Given the description of an element on the screen output the (x, y) to click on. 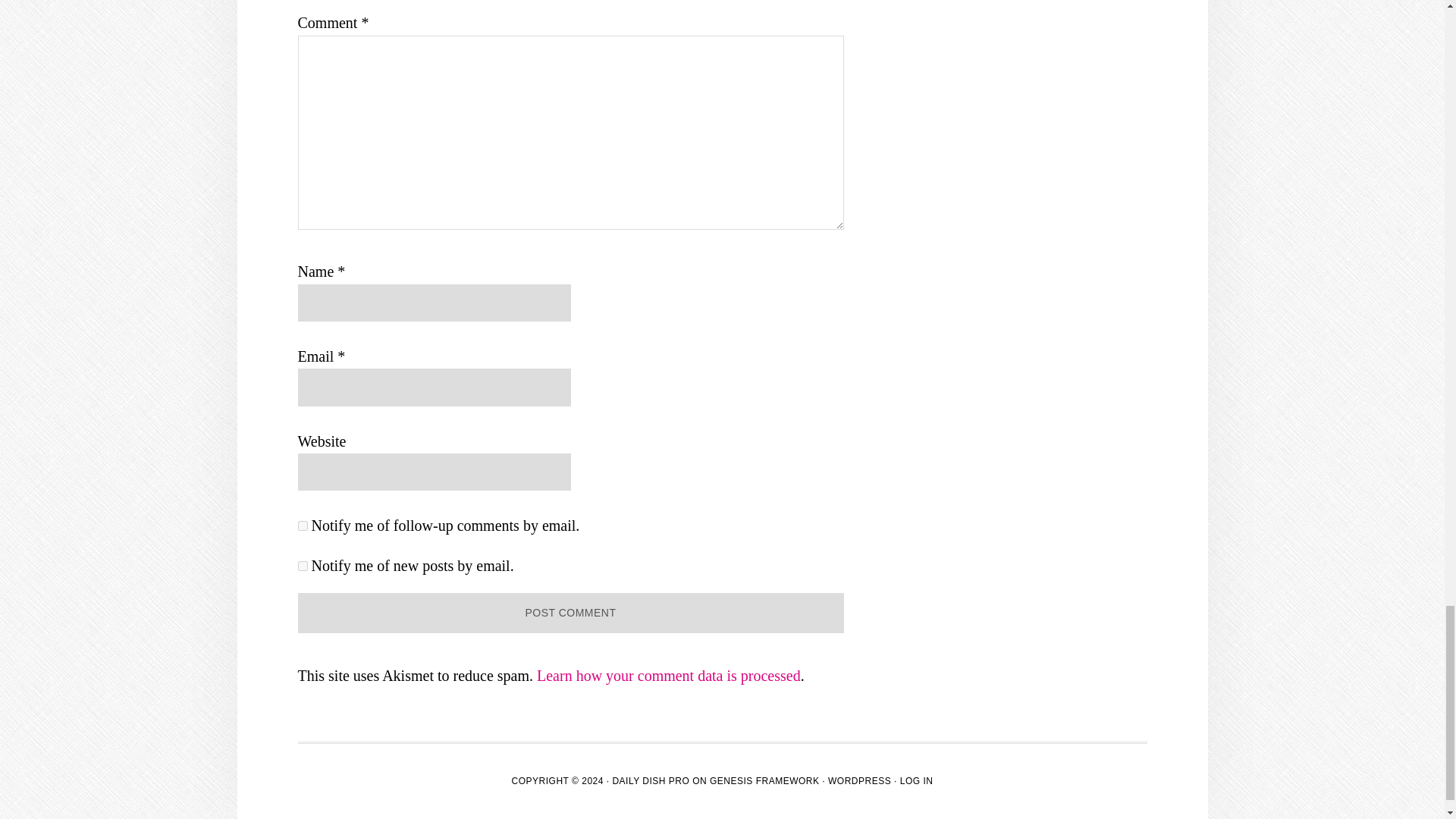
subscribe (302, 565)
Post Comment (570, 612)
subscribe (302, 525)
